Given the description of an element on the screen output the (x, y) to click on. 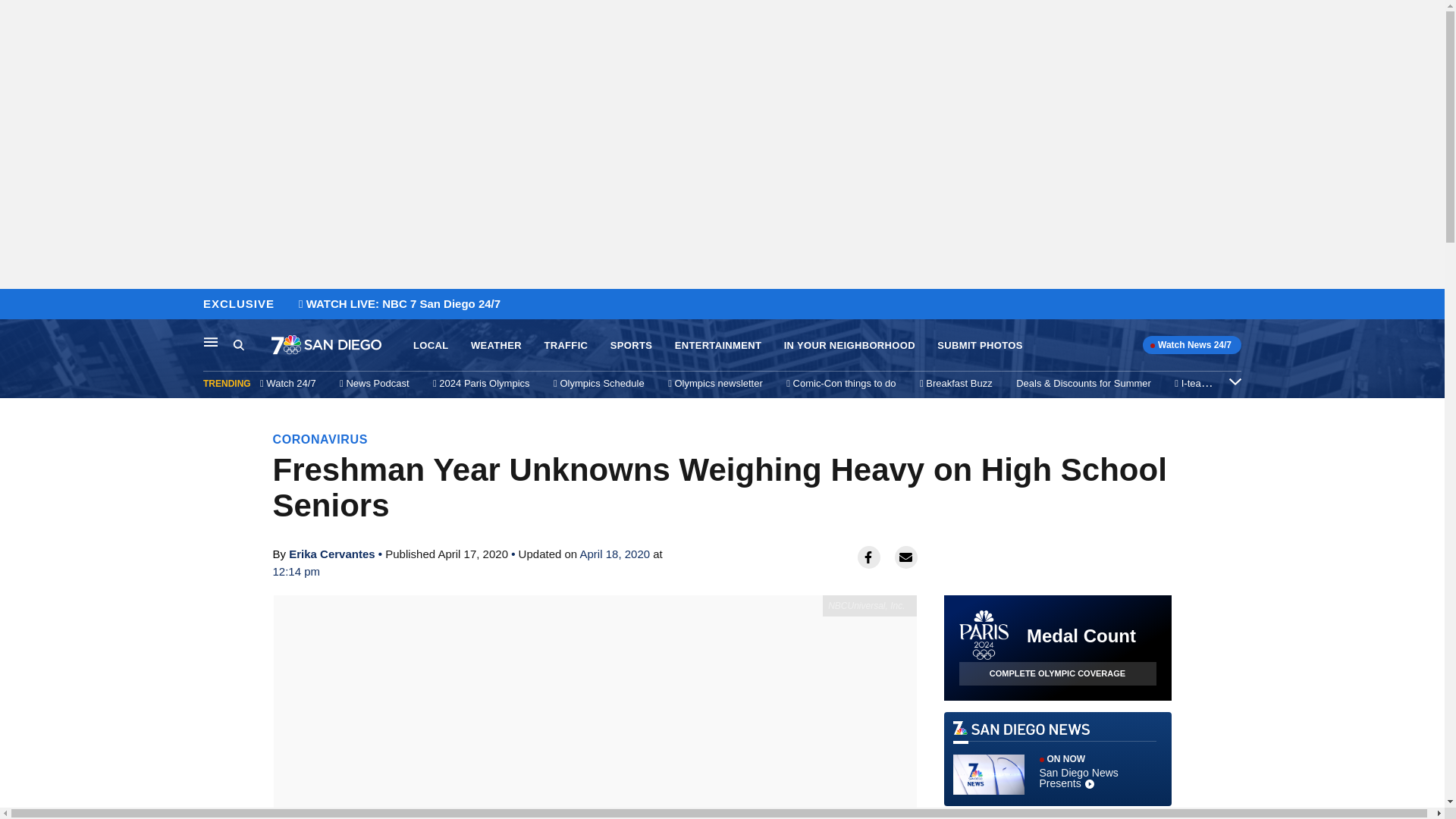
Skip to content (16, 304)
COMPLETE OLYMPIC COVERAGE (1057, 673)
WEATHER (495, 345)
Expand (1234, 381)
SUBMIT PHOTOS (979, 345)
Search (252, 345)
ENTERTAINMENT (718, 345)
Search (238, 344)
TRAFFIC (565, 345)
IN YOUR NEIGHBORHOOD (849, 345)
Main Navigation (210, 341)
Erika Cervantes (331, 553)
LOCAL (430, 345)
CORONAVIRUS (320, 439)
